Given the description of an element on the screen output the (x, y) to click on. 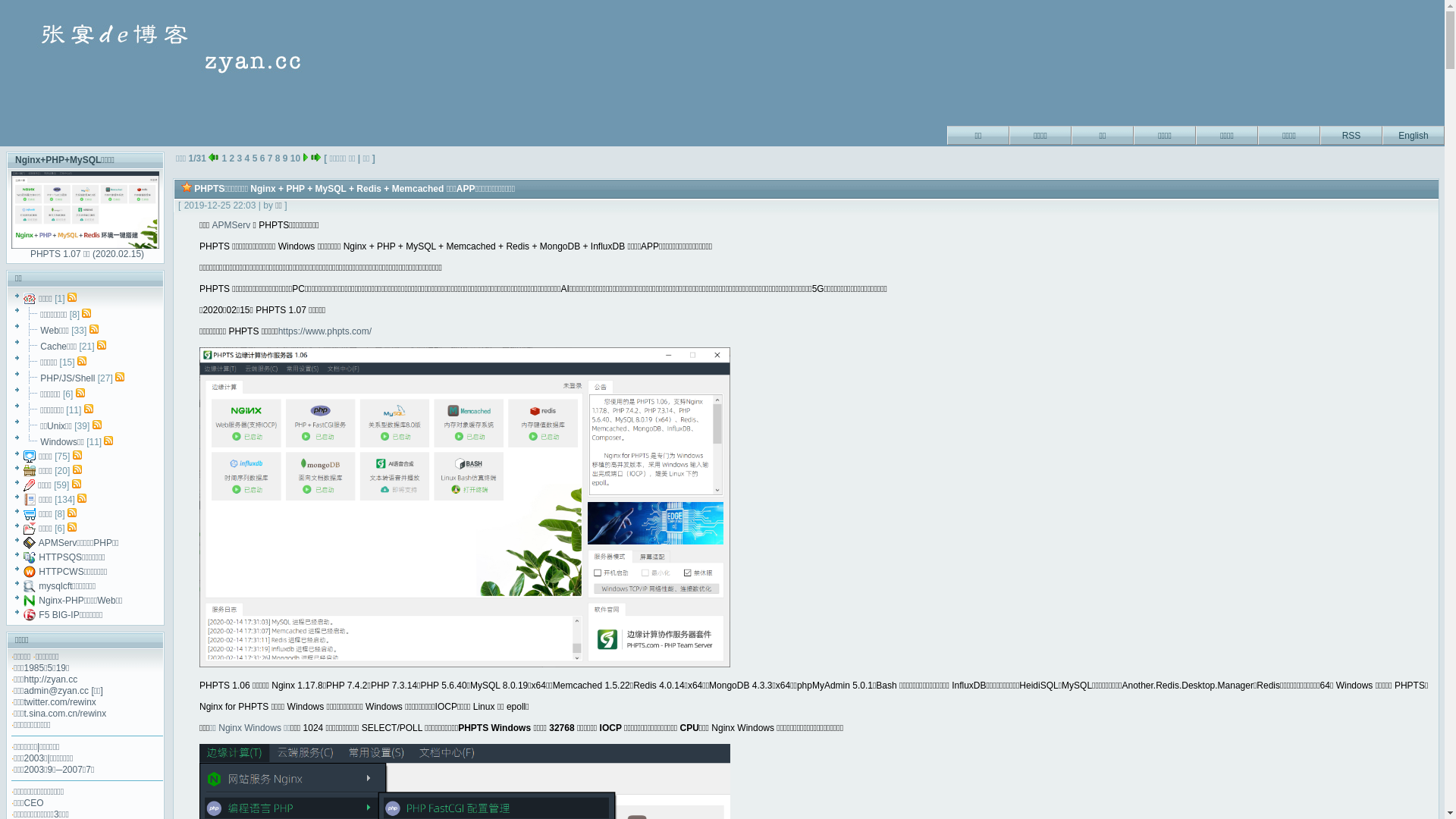
https://www.phpts.com/ Element type: text (324, 331)
RSS Element type: text (1351, 133)
3 Element type: text (239, 158)
5 Element type: text (254, 158)
10 Element type: text (295, 158)
9 Element type: text (285, 158)
APMServ Element type: text (230, 224)
7 Element type: text (270, 158)
2 Element type: text (232, 158)
6 Element type: text (262, 158)
twitter.com/rewinx Element type: text (60, 701)
PHP/JS/Shell Element type: text (67, 378)
English Element type: text (1413, 133)
8 Element type: text (277, 158)
http://zyan.cc Element type: text (51, 679)
4 Element type: text (247, 158)
t.sina.com.cn/rewinx Element type: text (65, 713)
